Given the description of an element on the screen output the (x, y) to click on. 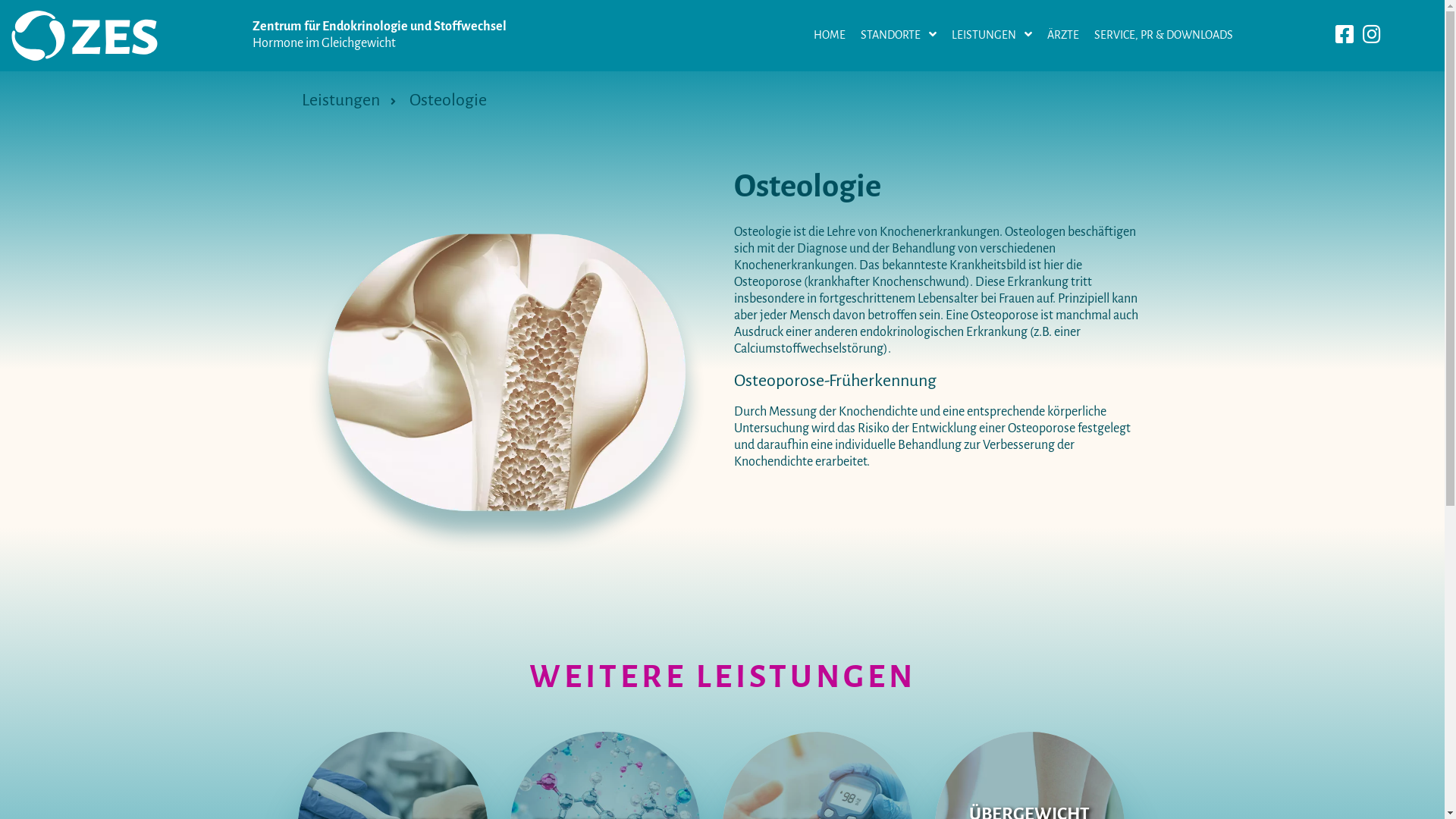
Leistungen Element type: text (355, 100)
HOME Element type: text (829, 35)
LEISTUNGEN Element type: text (991, 35)
Osteologie Element type: text (454, 100)
STANDORTE Element type: text (898, 35)
SERVICE, PR & DOWNLOADS Element type: text (1163, 35)
